Given the description of an element on the screen output the (x, y) to click on. 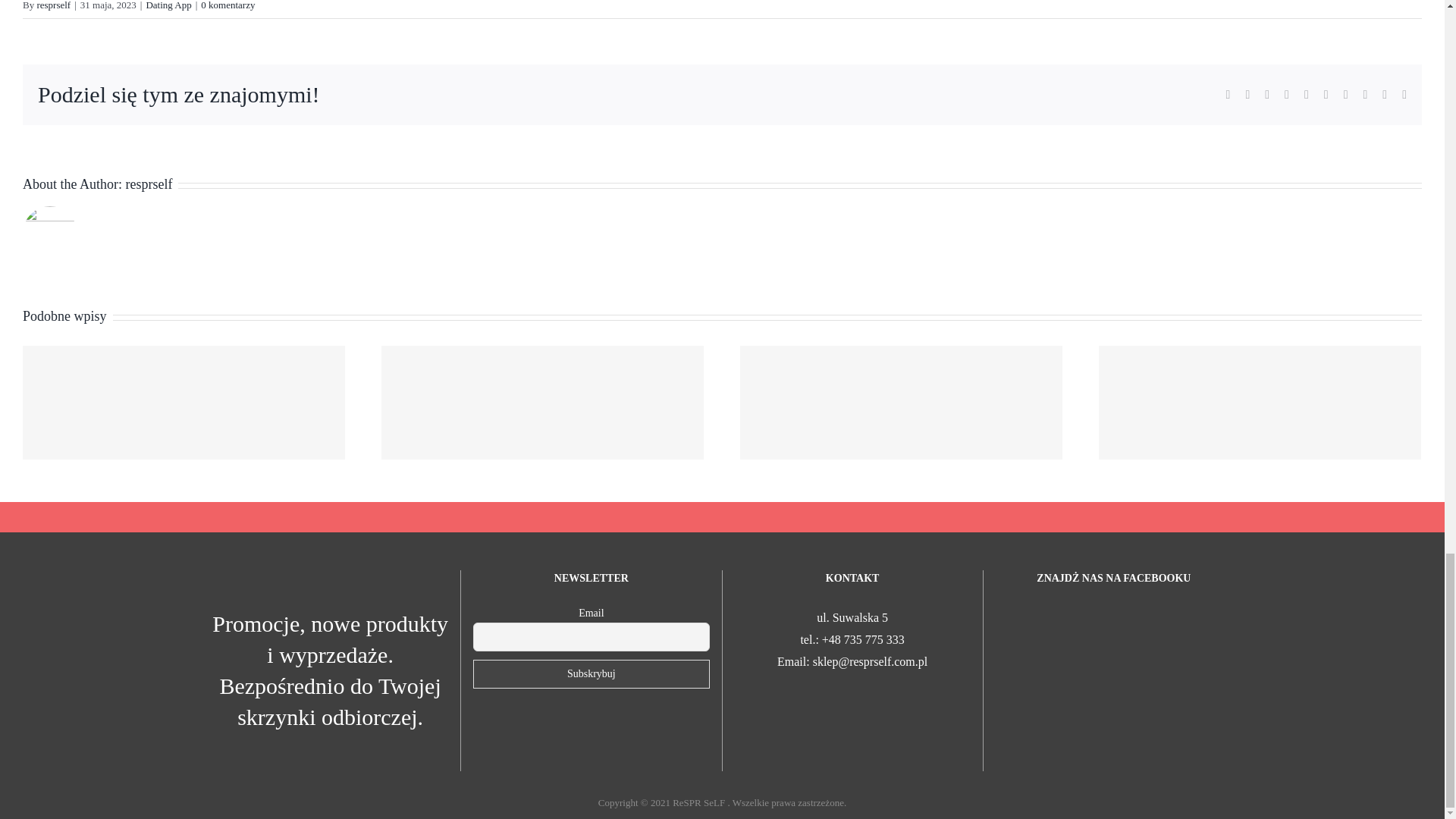
Dating App (167, 5)
resprself (149, 183)
Subskrybuj (591, 674)
0 komentarzy (227, 5)
resprself (52, 5)
